Given the description of an element on the screen output the (x, y) to click on. 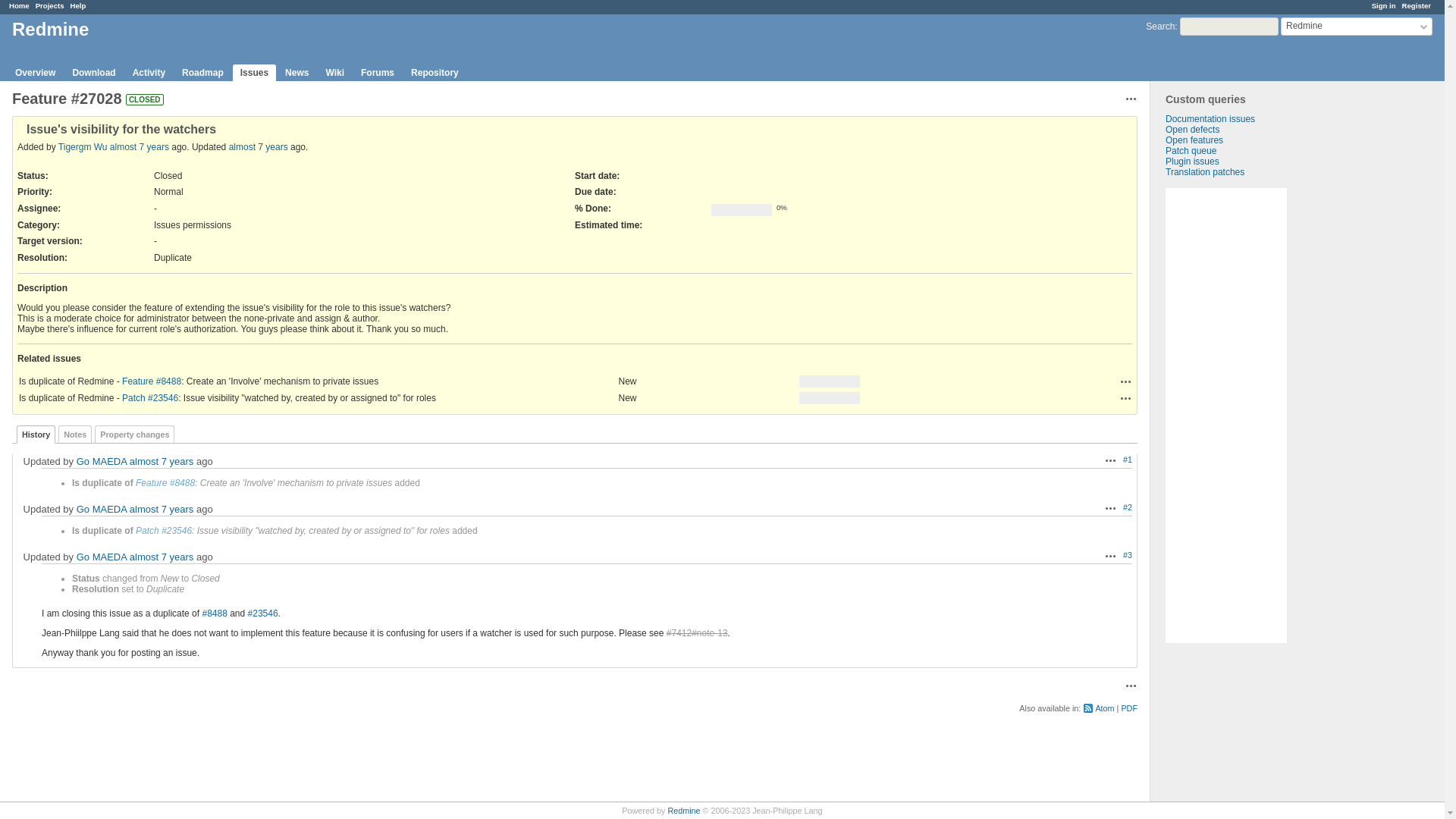
Property changes (134, 434)
Download (93, 72)
2017-09-19 02:52 (139, 146)
Tigergm Wu (82, 146)
Actions (1110, 508)
Issues (254, 72)
Home (18, 5)
Plugin issues (1193, 161)
Activity (149, 72)
History (35, 434)
Actions (1125, 381)
Projects (49, 5)
Actions (1125, 381)
Actions (1131, 98)
almost 7 years (139, 146)
